Given the description of an element on the screen output the (x, y) to click on. 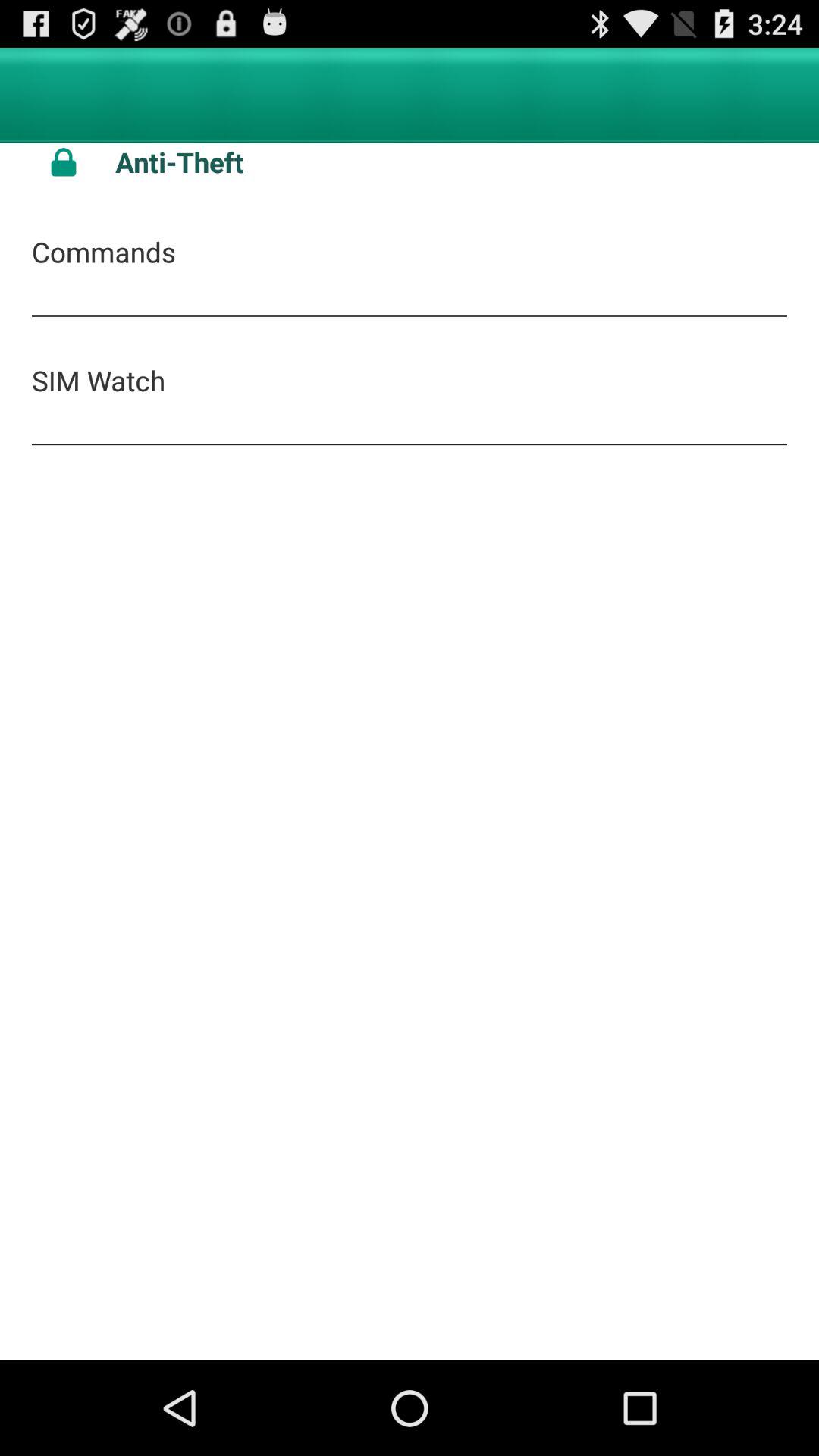
click icon above the commands icon (451, 161)
